Given the description of an element on the screen output the (x, y) to click on. 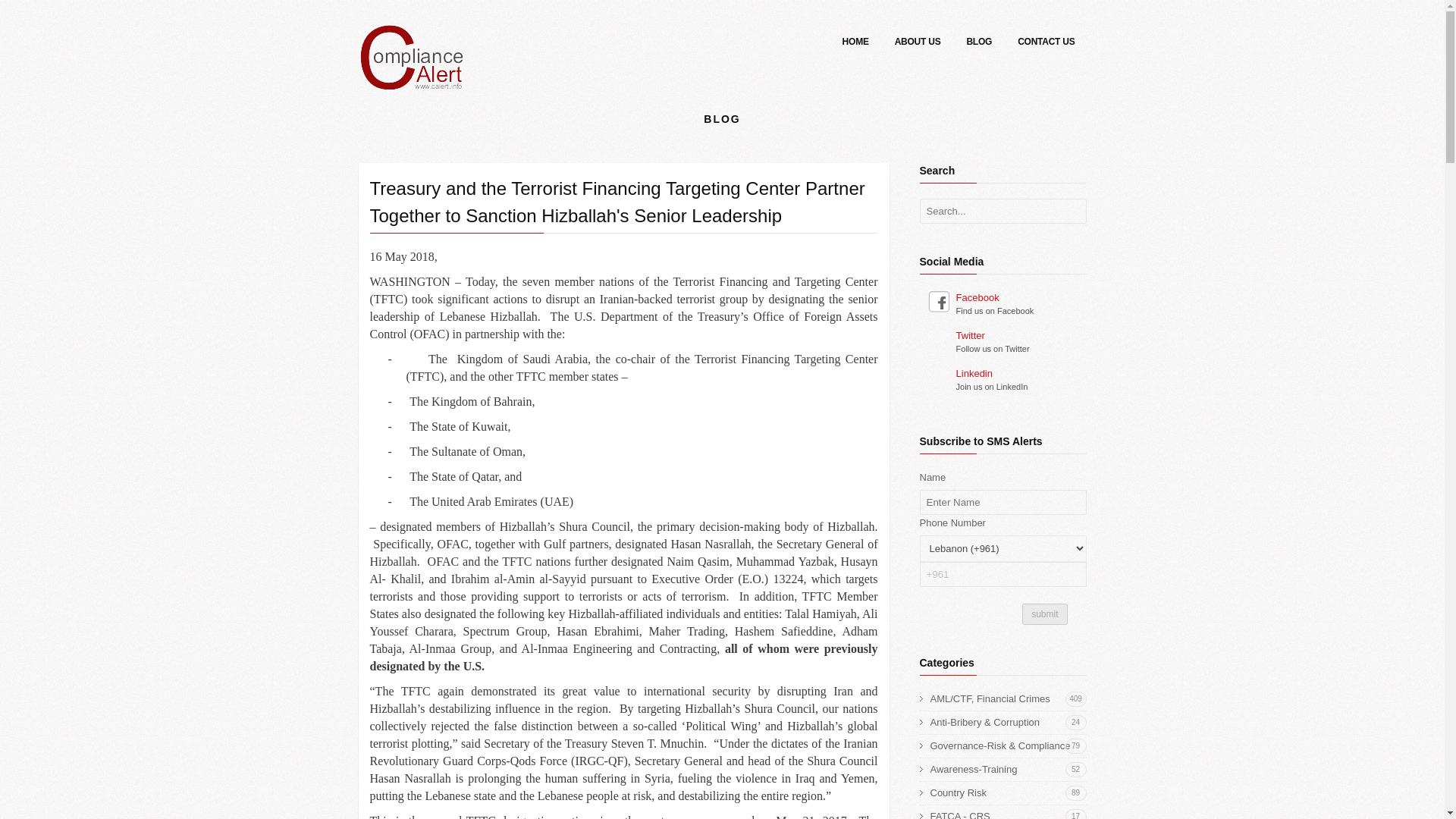
Search (1072, 212)
CONTACT US (1046, 43)
Twitter (1008, 813)
Search (1005, 335)
HOME (1072, 212)
BLOG (855, 43)
Facebook (979, 43)
Search (1008, 792)
Newa : (1005, 297)
ABOUT US (1072, 212)
submit (411, 79)
Linkedin (917, 43)
